Given the description of an element on the screen output the (x, y) to click on. 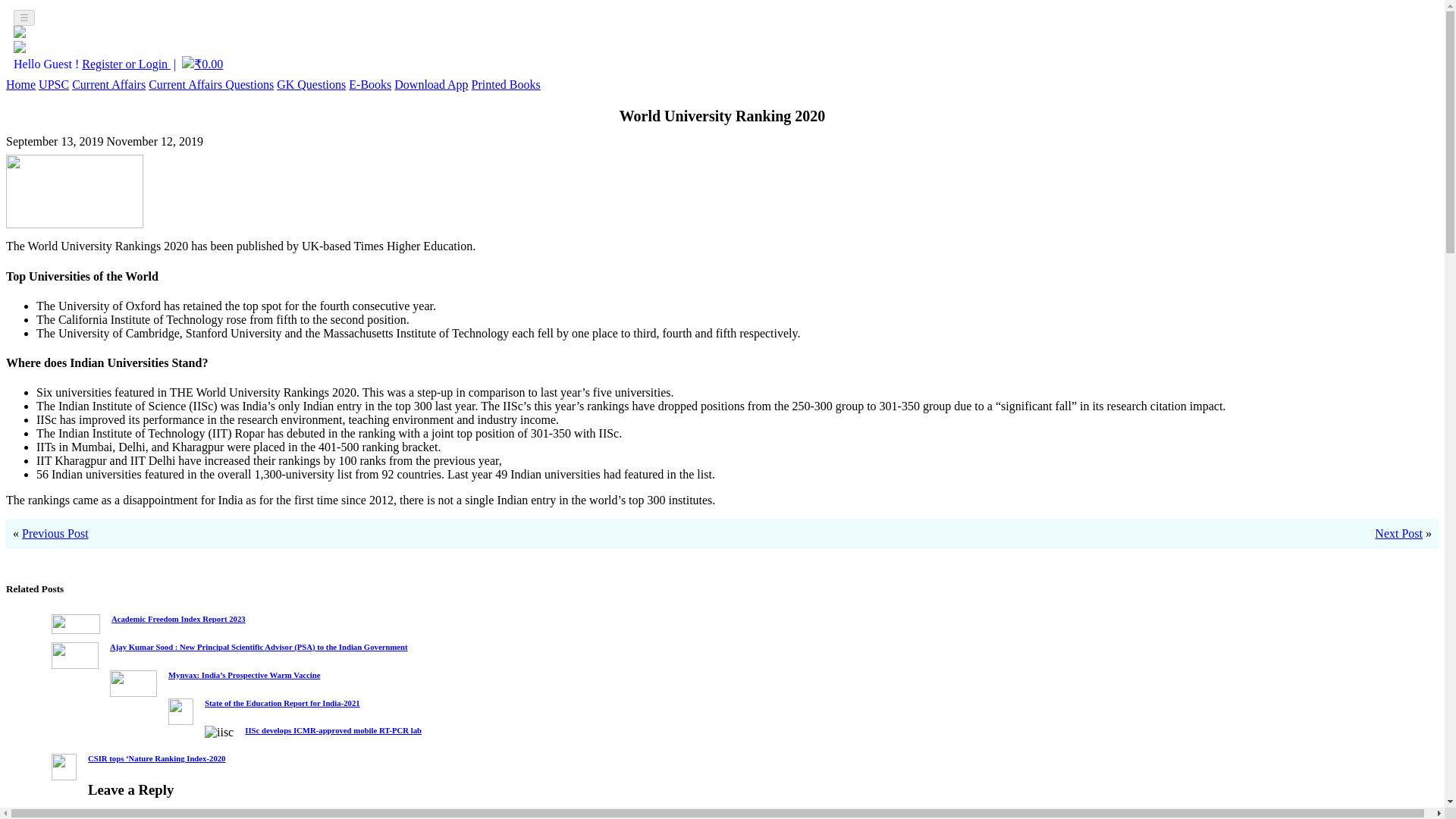
Current Affairs (108, 83)
Previous Post (54, 533)
State of the Education Report for India-2021 (282, 701)
Home (19, 83)
Next Post (1398, 533)
IISc develops ICMR-approved mobile RT-PCR lab (333, 729)
IISc develops ICMR-approved mobile RT-PCR lab (333, 729)
Download App (430, 83)
E-Books (370, 83)
Printed Books (505, 83)
State of the Education Report for India-2021 (282, 701)
Register or Login (125, 63)
Academic Freedom Index Report 2023 (179, 618)
GK Questions (311, 83)
